Given the description of an element on the screen output the (x, y) to click on. 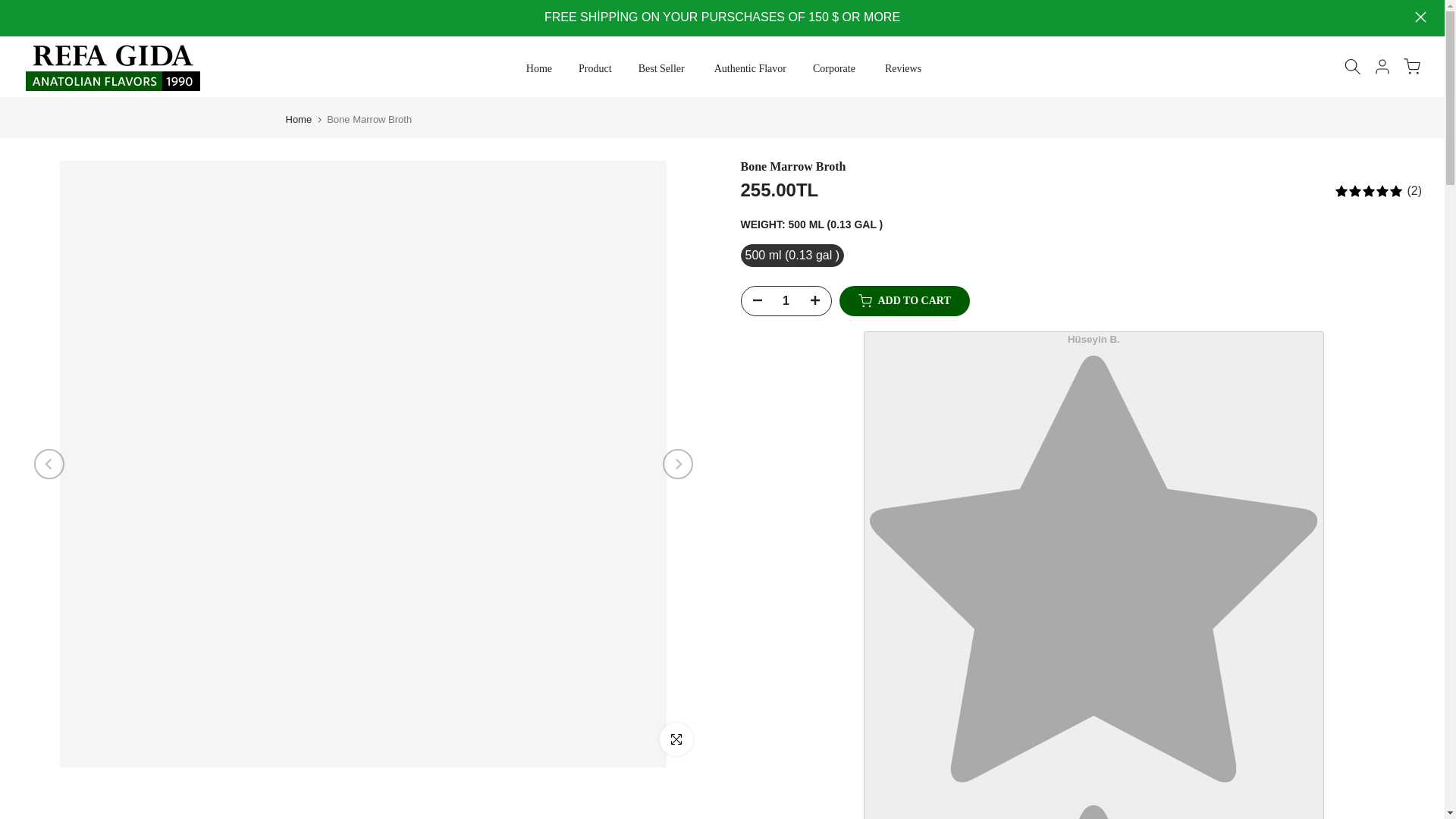
1 (786, 300)
Skip to content (10, 7)
Product (596, 68)
Home (536, 68)
close (1420, 16)
